Given the description of an element on the screen output the (x, y) to click on. 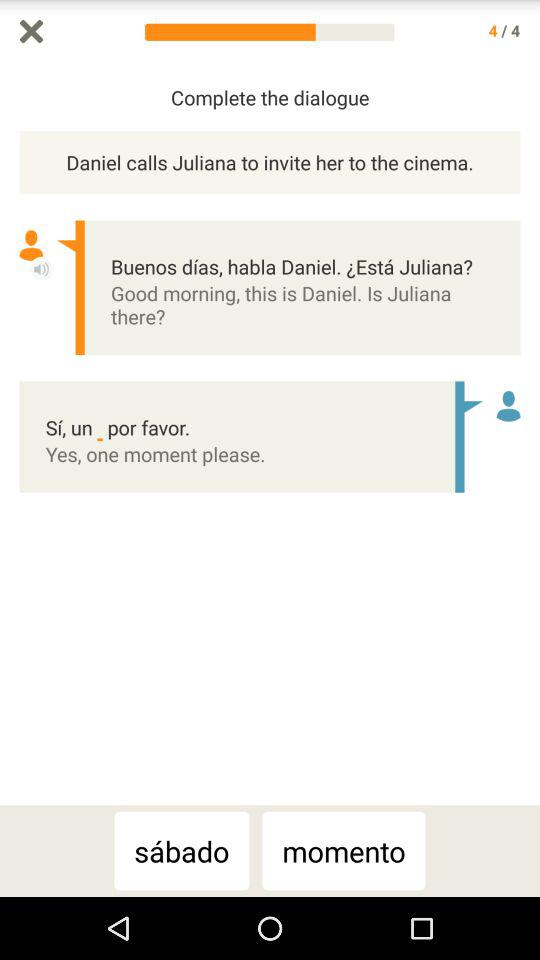
press the icon next to daniel calls juliana icon (530, 434)
